Given the description of an element on the screen output the (x, y) to click on. 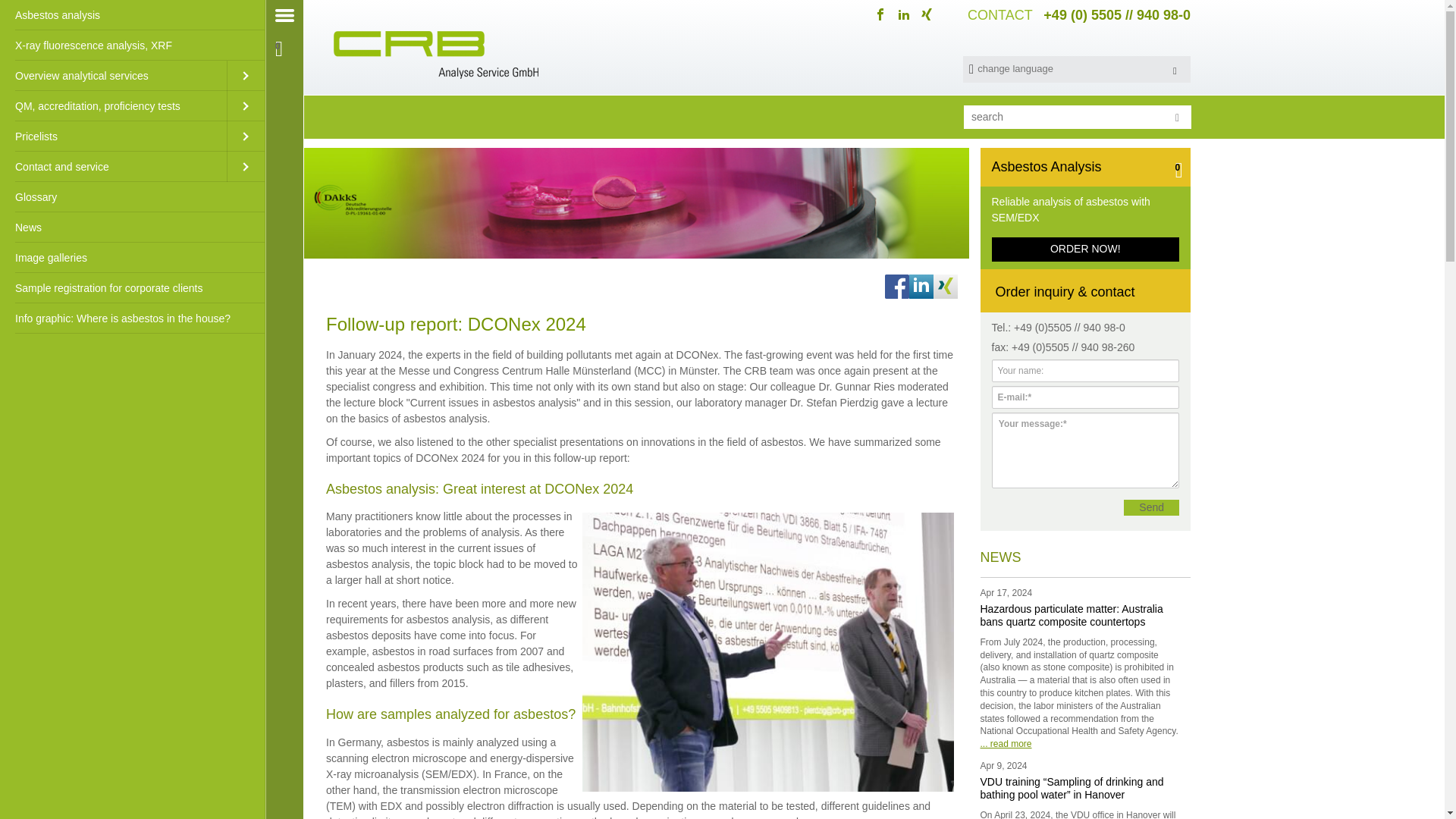
QM, accreditation, proficiency tests (113, 105)
Pricelists (113, 136)
QM, accreditation, proficiency tests (113, 105)
Contact and service (113, 166)
Overview analytical services (113, 75)
Asbestos analysis (132, 15)
Overview analytical services (113, 75)
X-ray fluorescence analysis, XRF (132, 45)
